Given the description of an element on the screen output the (x, y) to click on. 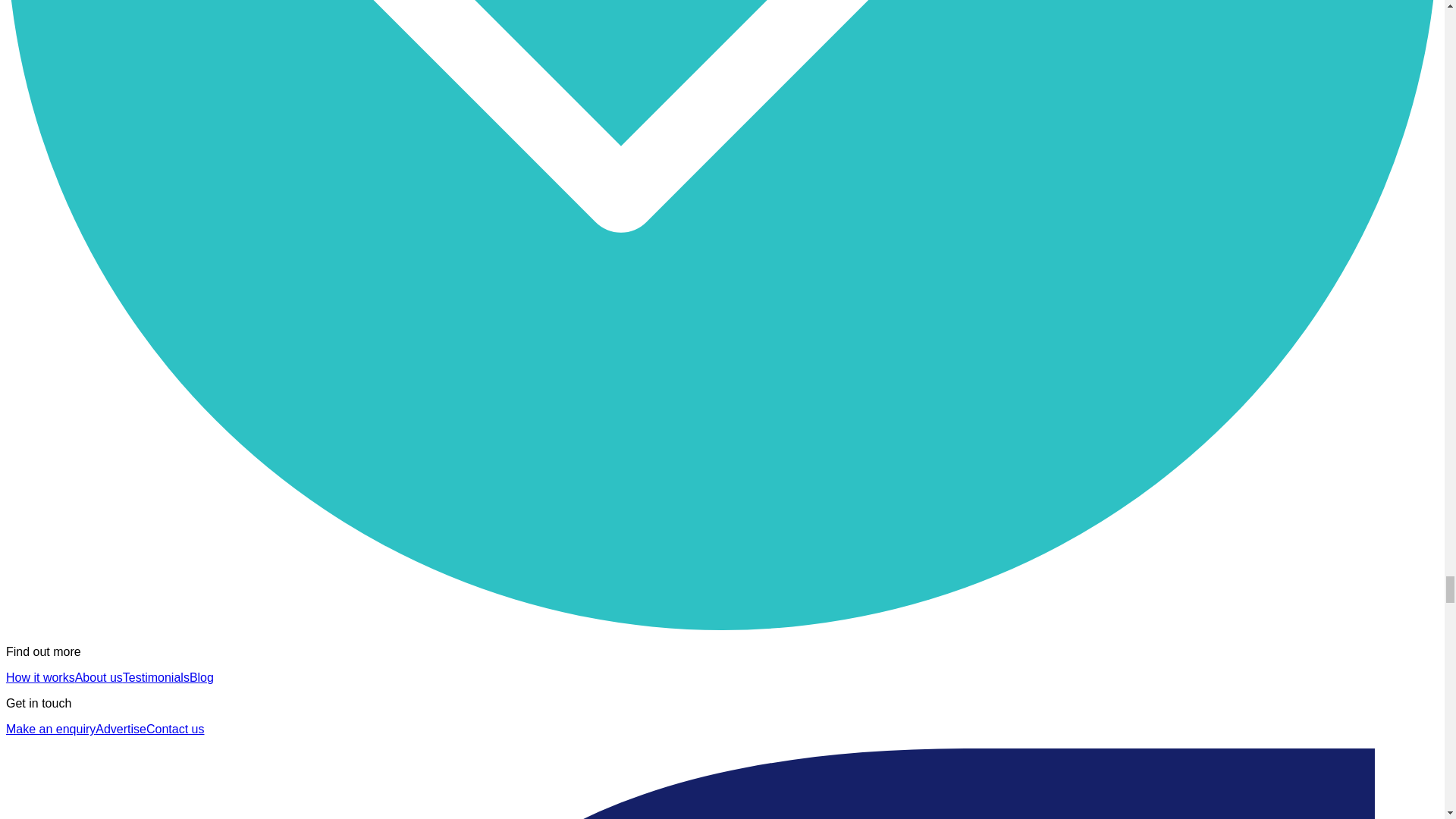
Testimonials (155, 676)
Make an enquiry (50, 728)
Blog (201, 676)
Advertise (121, 728)
About us (98, 676)
Contact us (175, 728)
How it works (40, 676)
